Given the description of an element on the screen output the (x, y) to click on. 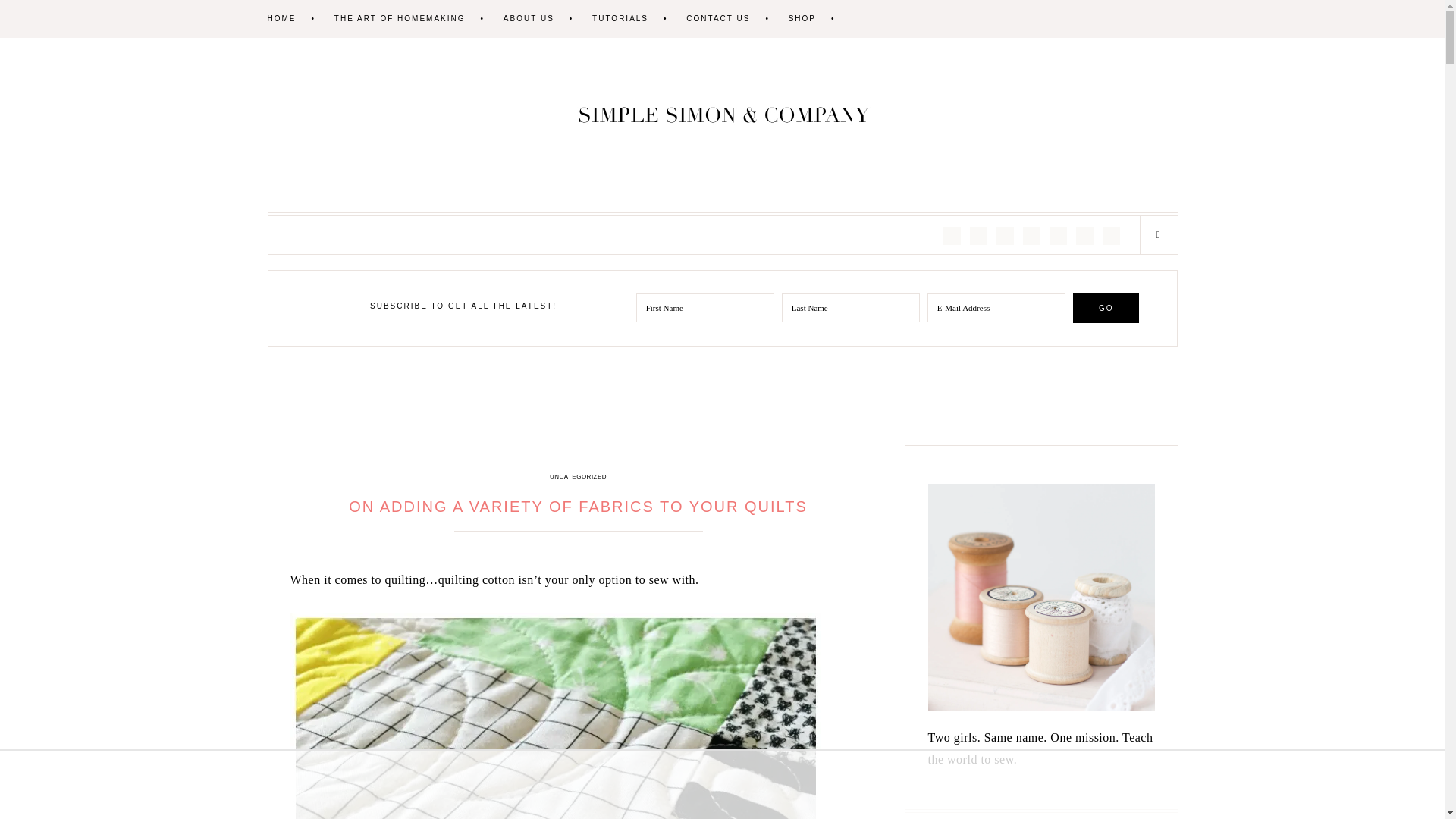
Go (1106, 307)
UNCATEGORIZED (578, 476)
CONTACT US (734, 18)
SHOP (819, 18)
TUTORIALS (637, 18)
ABOUT US (545, 18)
HOME (298, 18)
Go (1106, 307)
THE ART OF HOMEMAKING (416, 18)
